Given the description of an element on the screen output the (x, y) to click on. 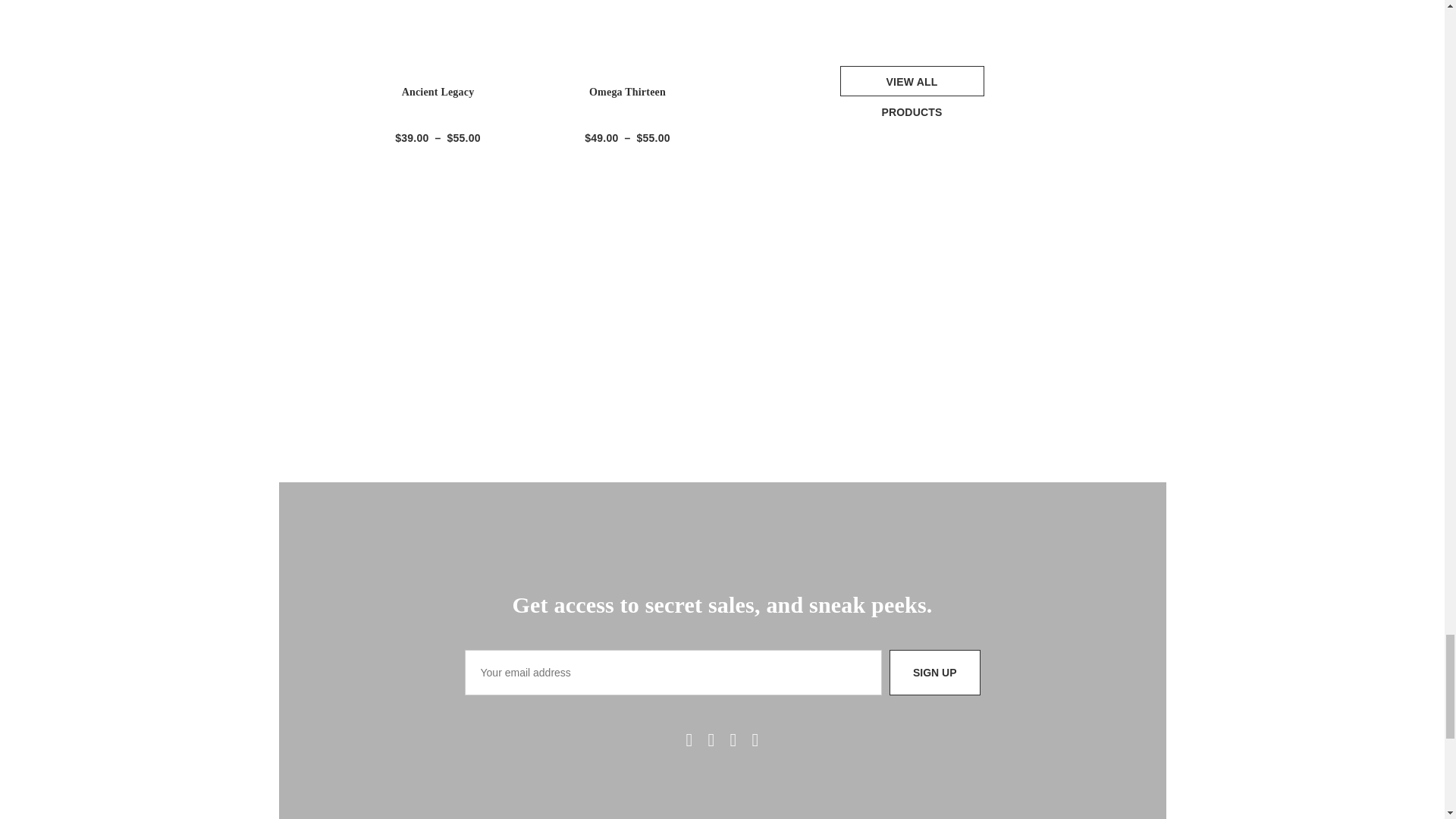
Sign up (934, 672)
